Given the description of an element on the screen output the (x, y) to click on. 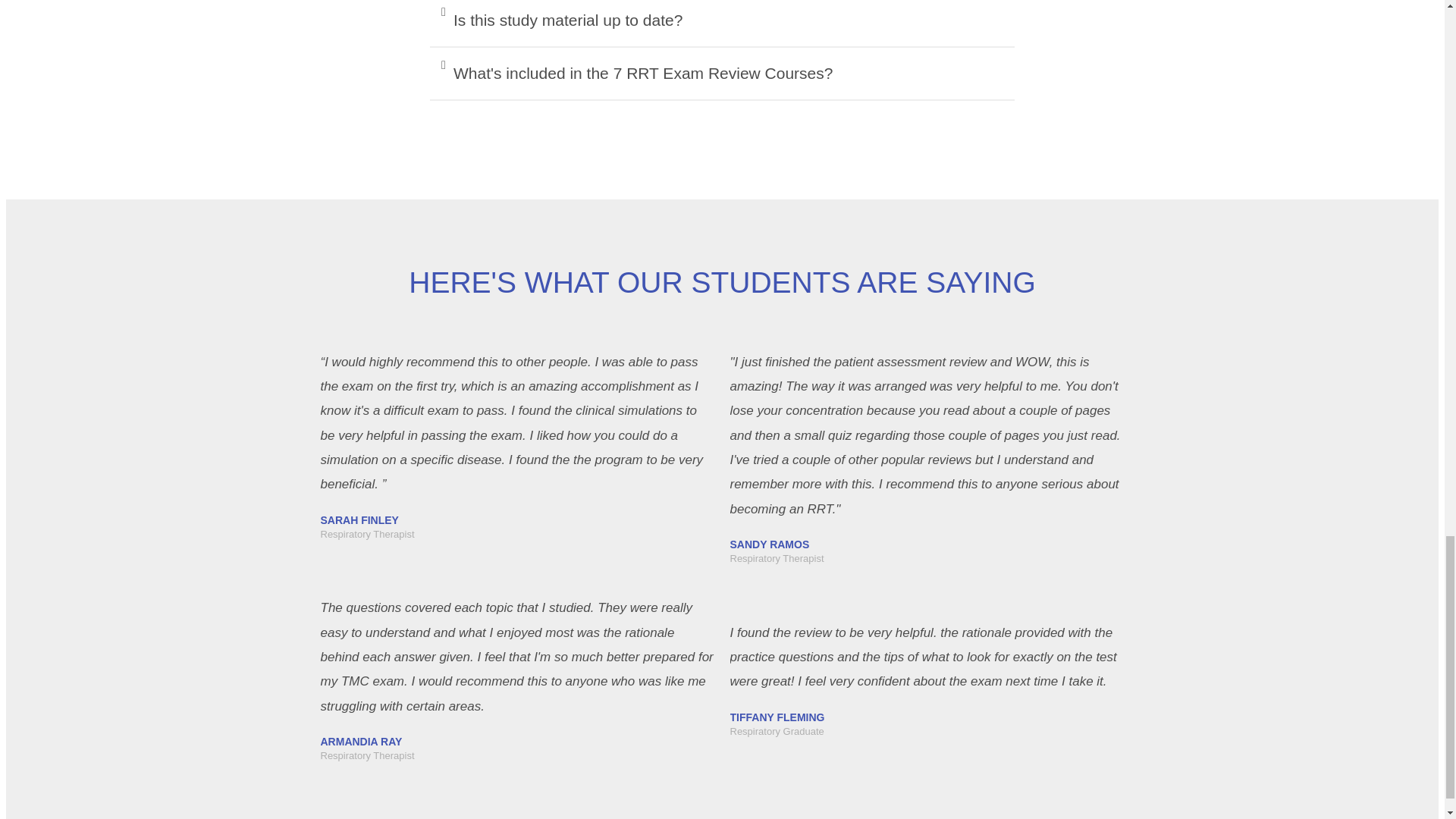
What's included in the 7 RRT Exam Review Courses? (642, 72)
Is this study material up to date? (567, 19)
